Given the description of an element on the screen output the (x, y) to click on. 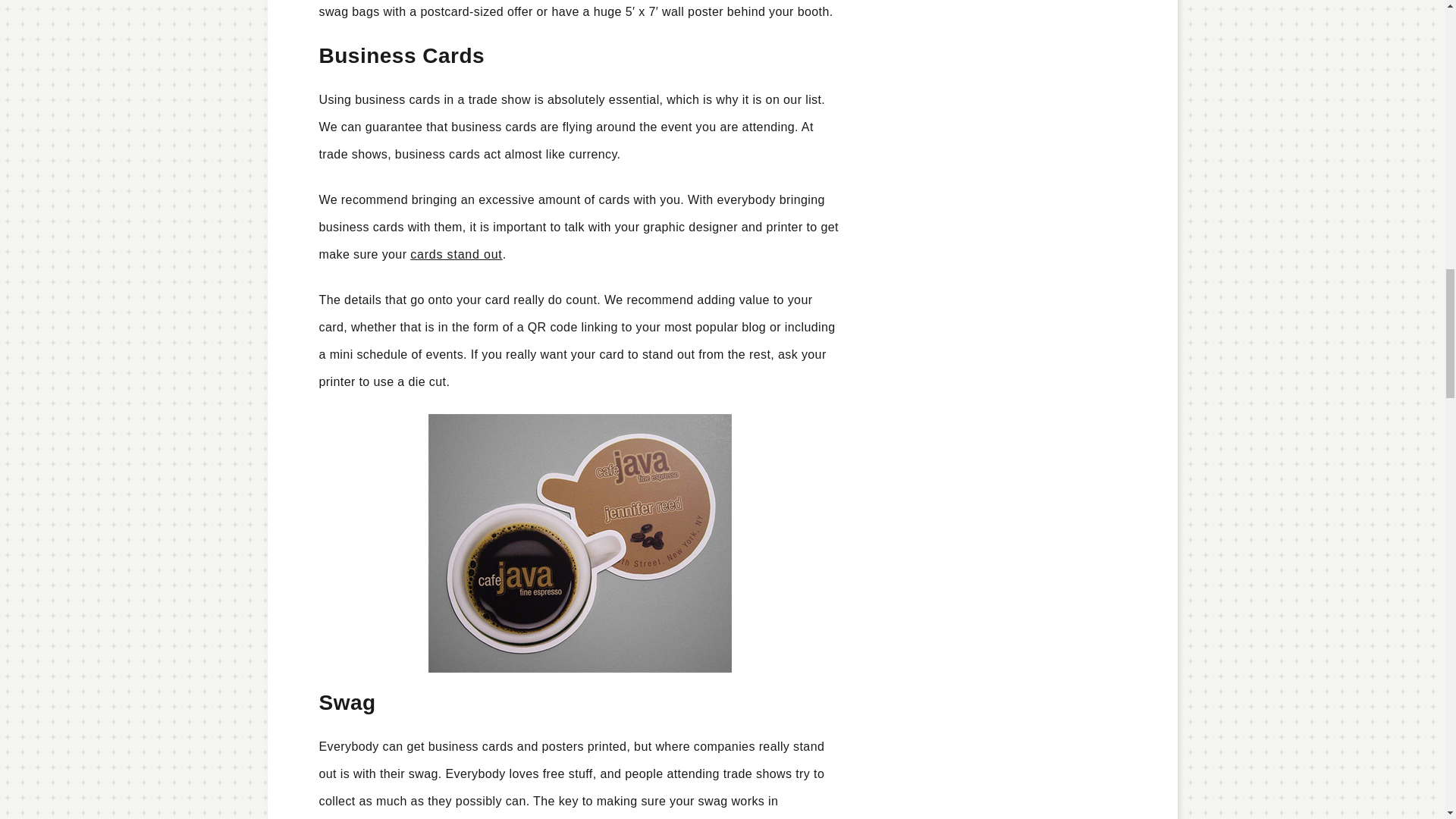
Die Cut Business Cards (580, 543)
